Given the description of an element on the screen output the (x, y) to click on. 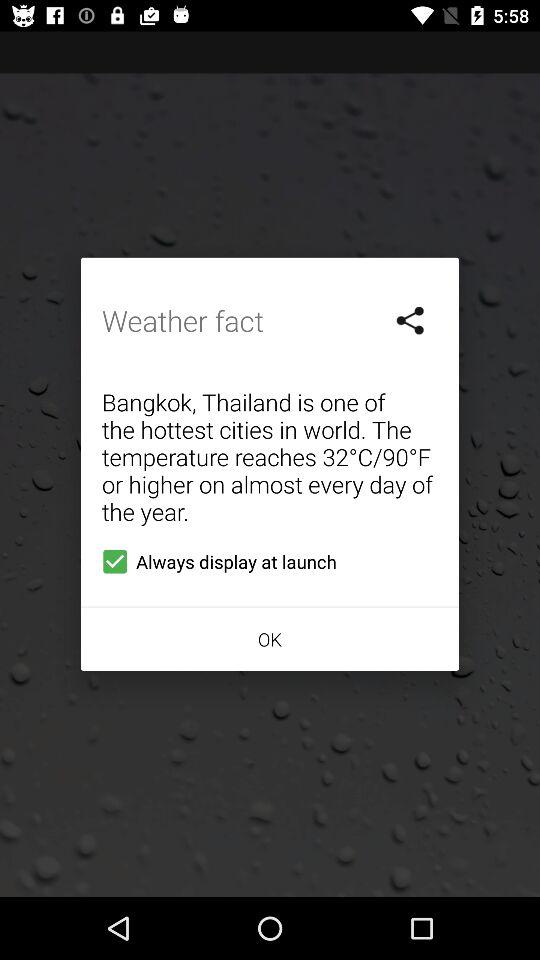
flip to ok (270, 638)
